Given the description of an element on the screen output the (x, y) to click on. 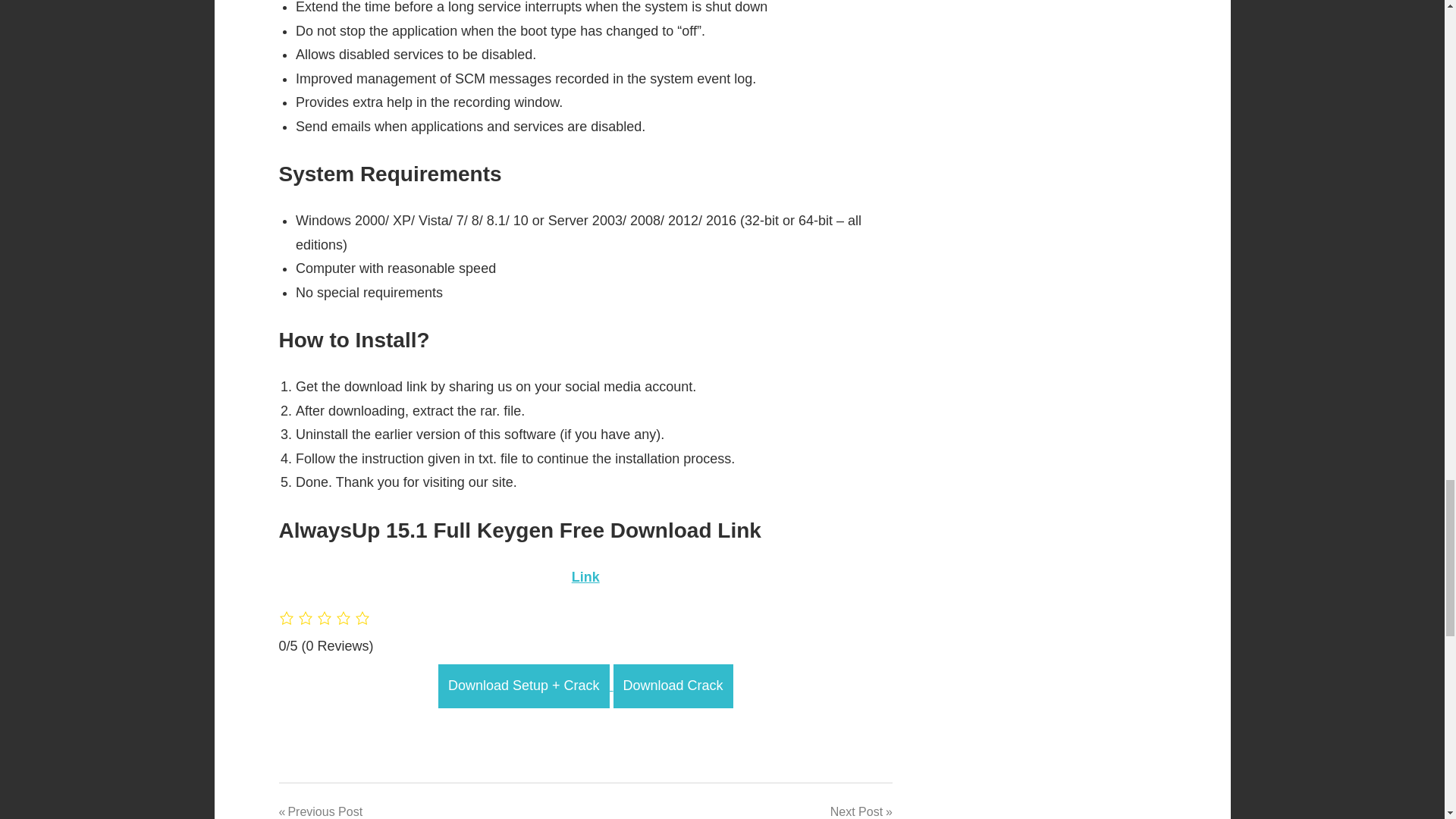
Link (585, 576)
